Given the description of an element on the screen output the (x, y) to click on. 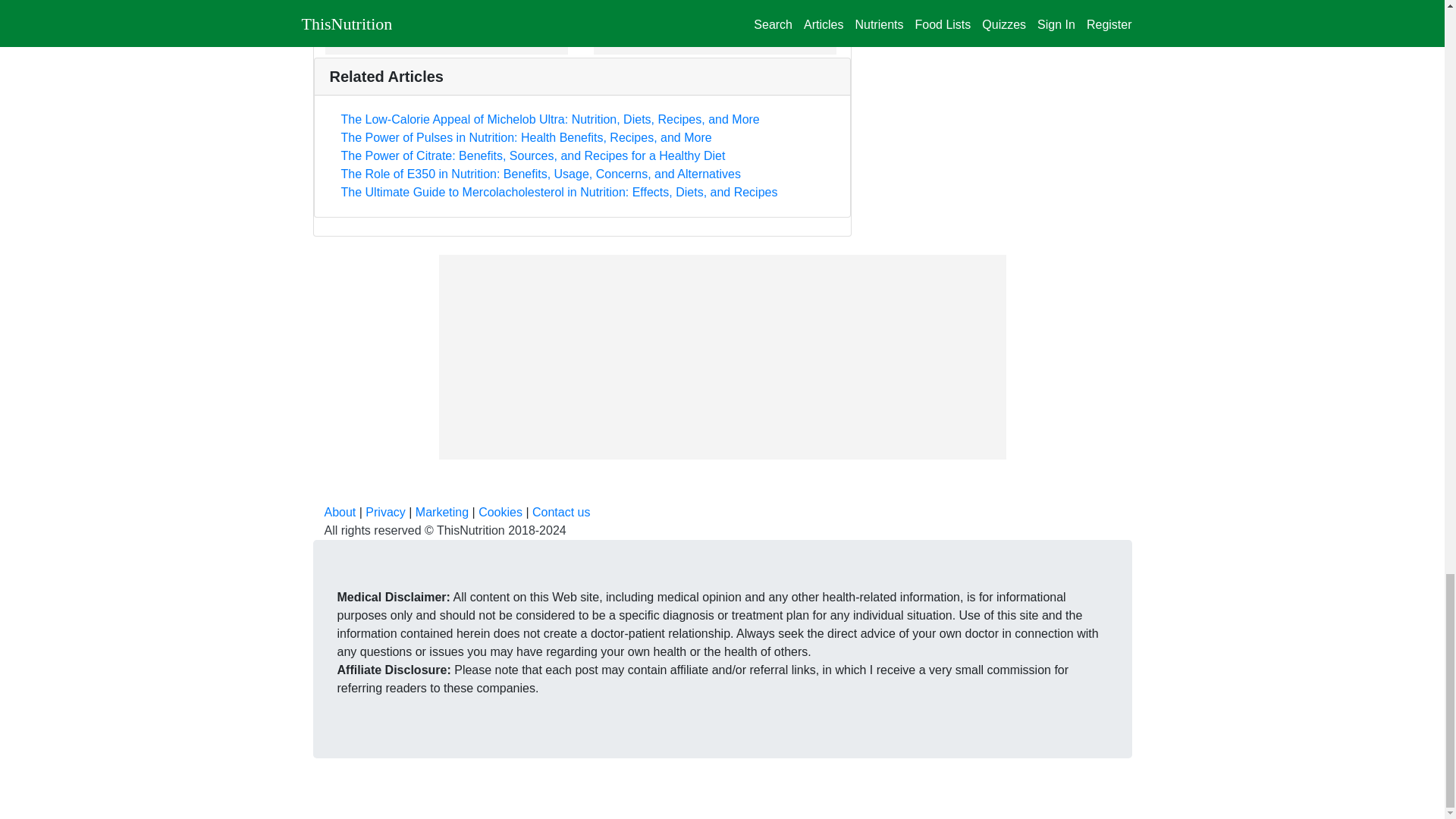
Contact us (560, 512)
About the website (340, 512)
Privacy (384, 512)
About (340, 512)
Direct Marketing Privacy (441, 512)
Cookies (500, 512)
Cookies Privacy (500, 512)
Marketing (441, 512)
Contact us (560, 512)
Privacy Policy (384, 512)
